Given the description of an element on the screen output the (x, y) to click on. 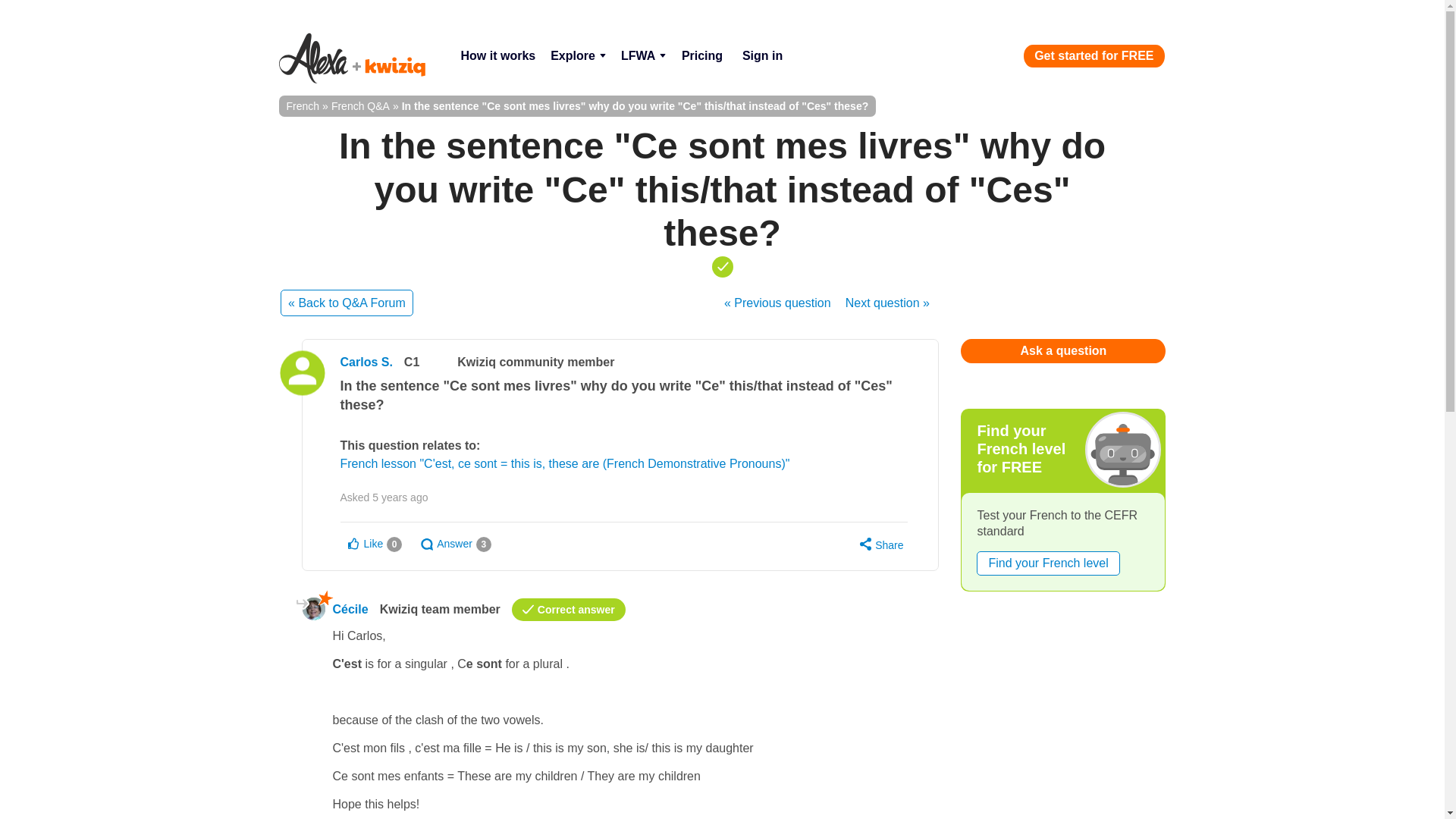
Explore (577, 56)
LFWA (643, 56)
9th June 2019 (400, 497)
How it works (497, 56)
